Given the description of an element on the screen output the (x, y) to click on. 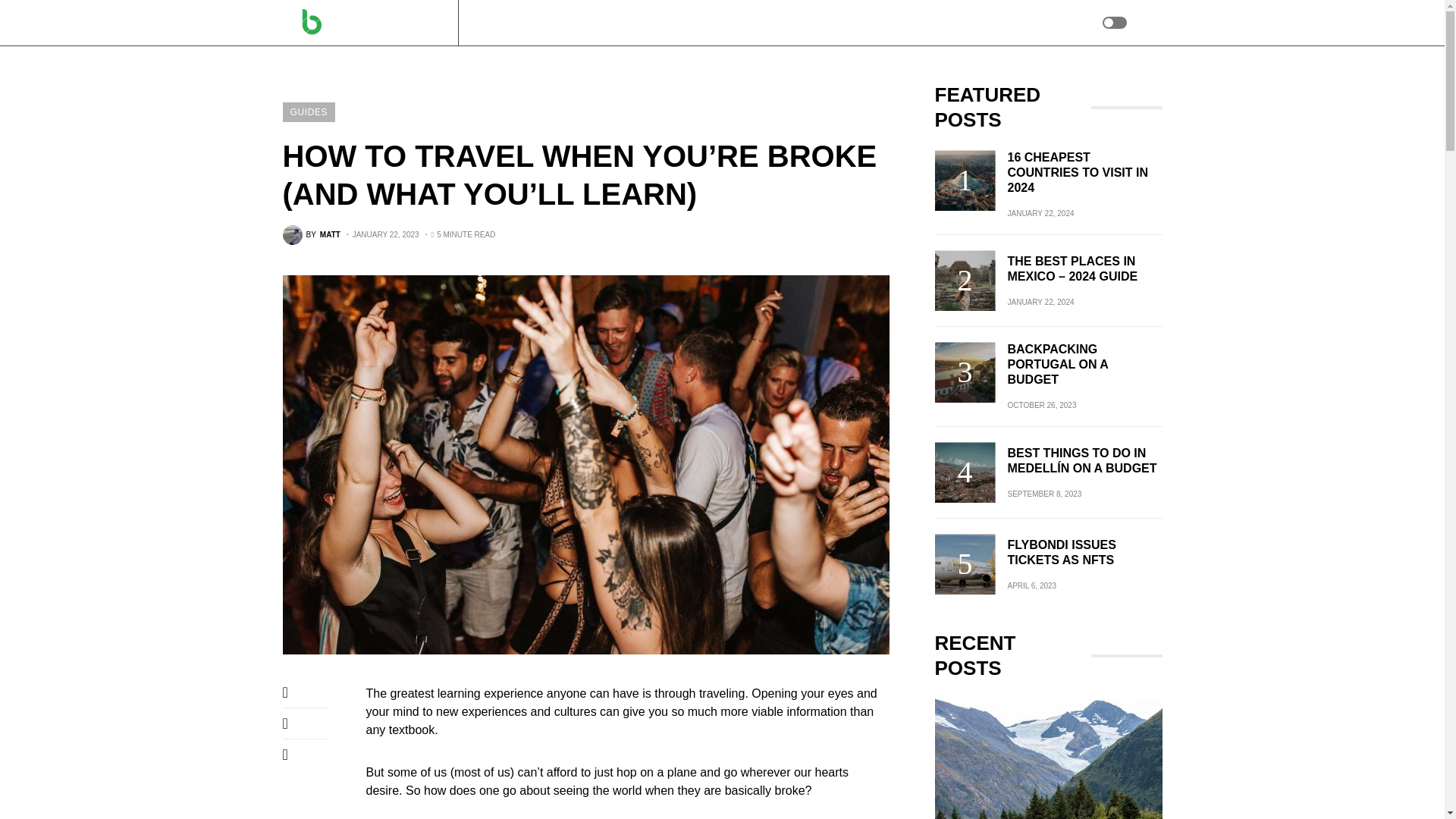
View all posts by Matt (310, 234)
GUIDES (496, 22)
CONTACT US (614, 22)
